Given the description of an element on the screen output the (x, y) to click on. 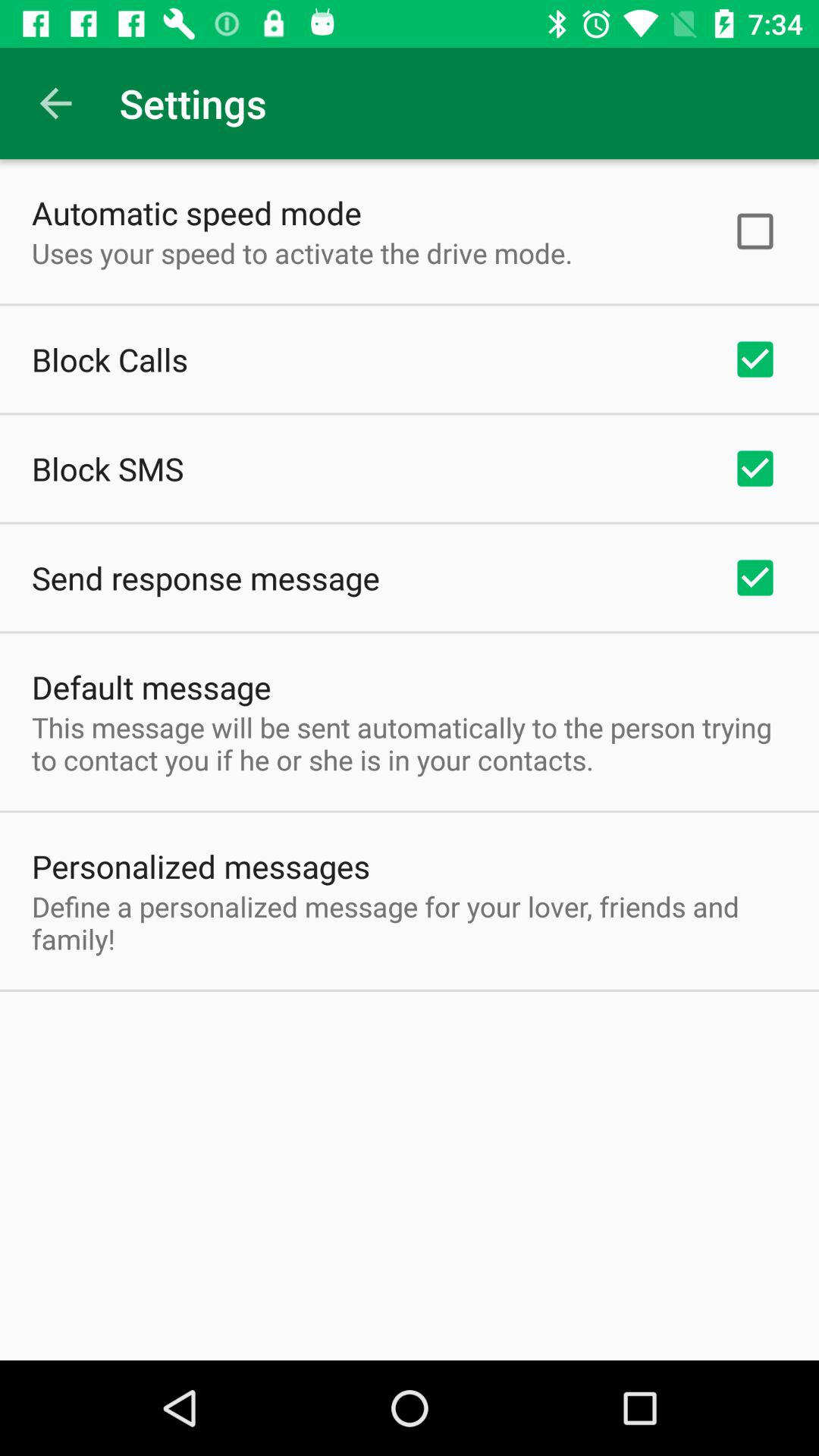
turn off item above the this message will icon (151, 686)
